Given the description of an element on the screen output the (x, y) to click on. 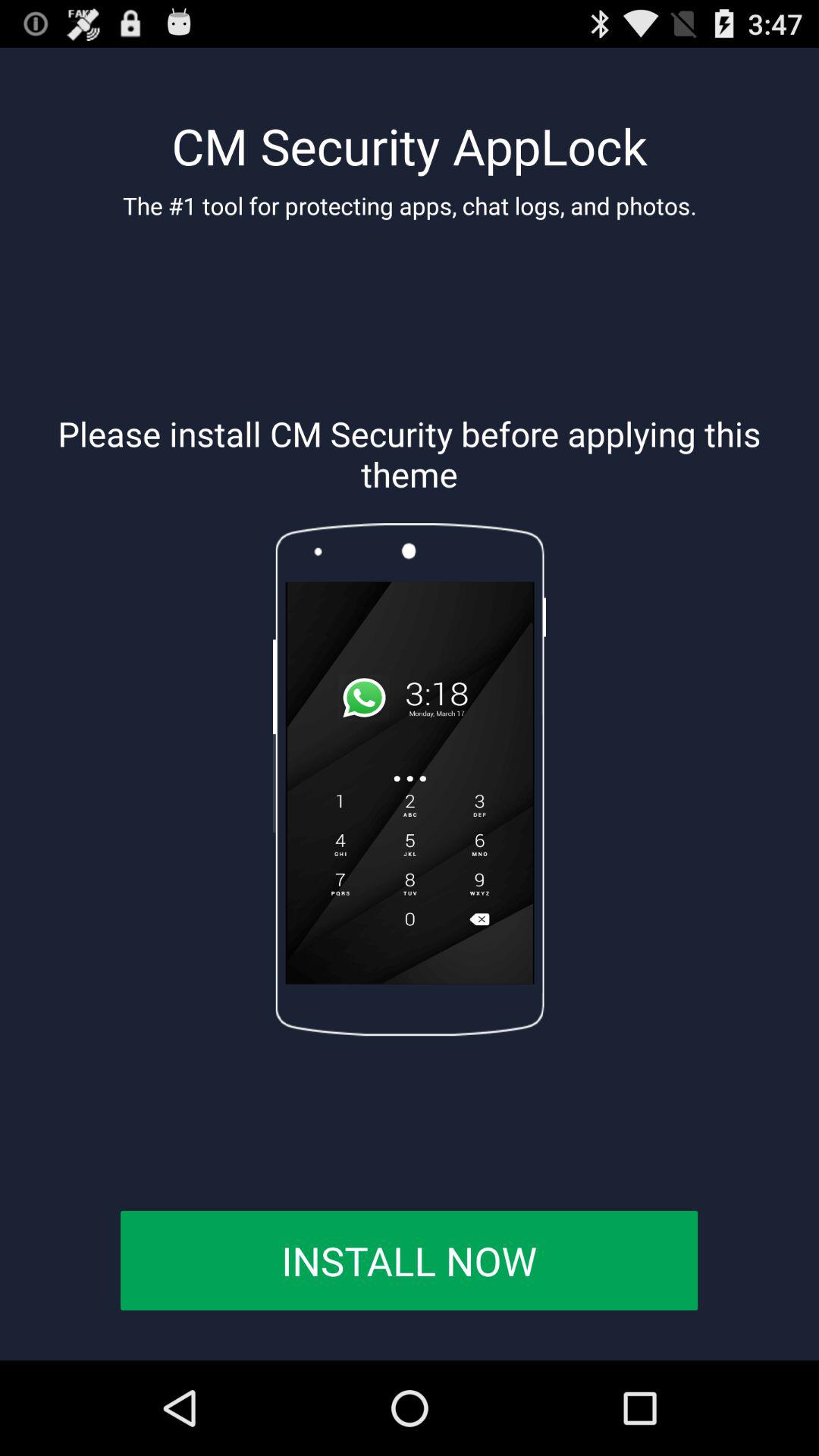
open the install now item (408, 1260)
